Given the description of an element on the screen output the (x, y) to click on. 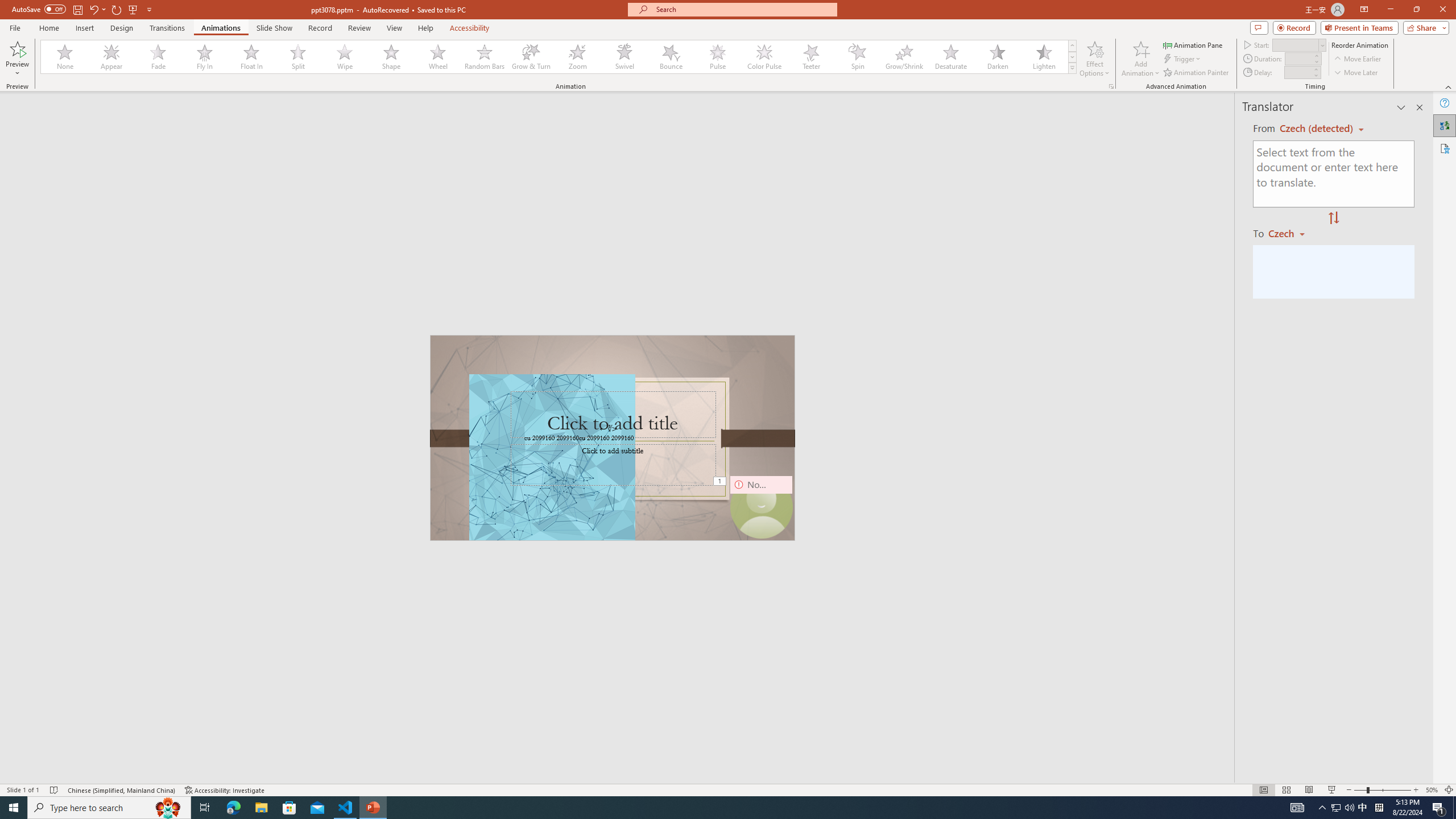
Spin (857, 56)
